Given the description of an element on the screen output the (x, y) to click on. 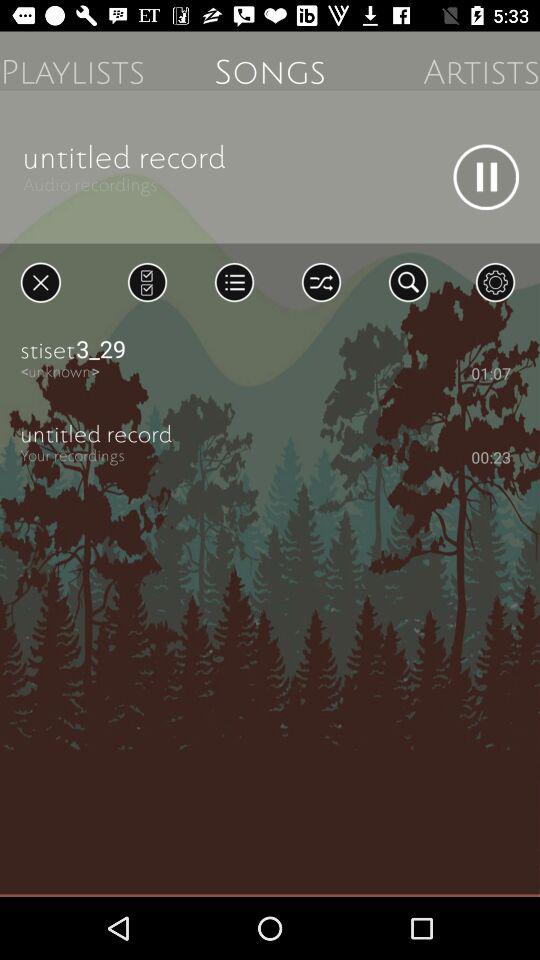
menu page (147, 282)
